Given the description of an element on the screen output the (x, y) to click on. 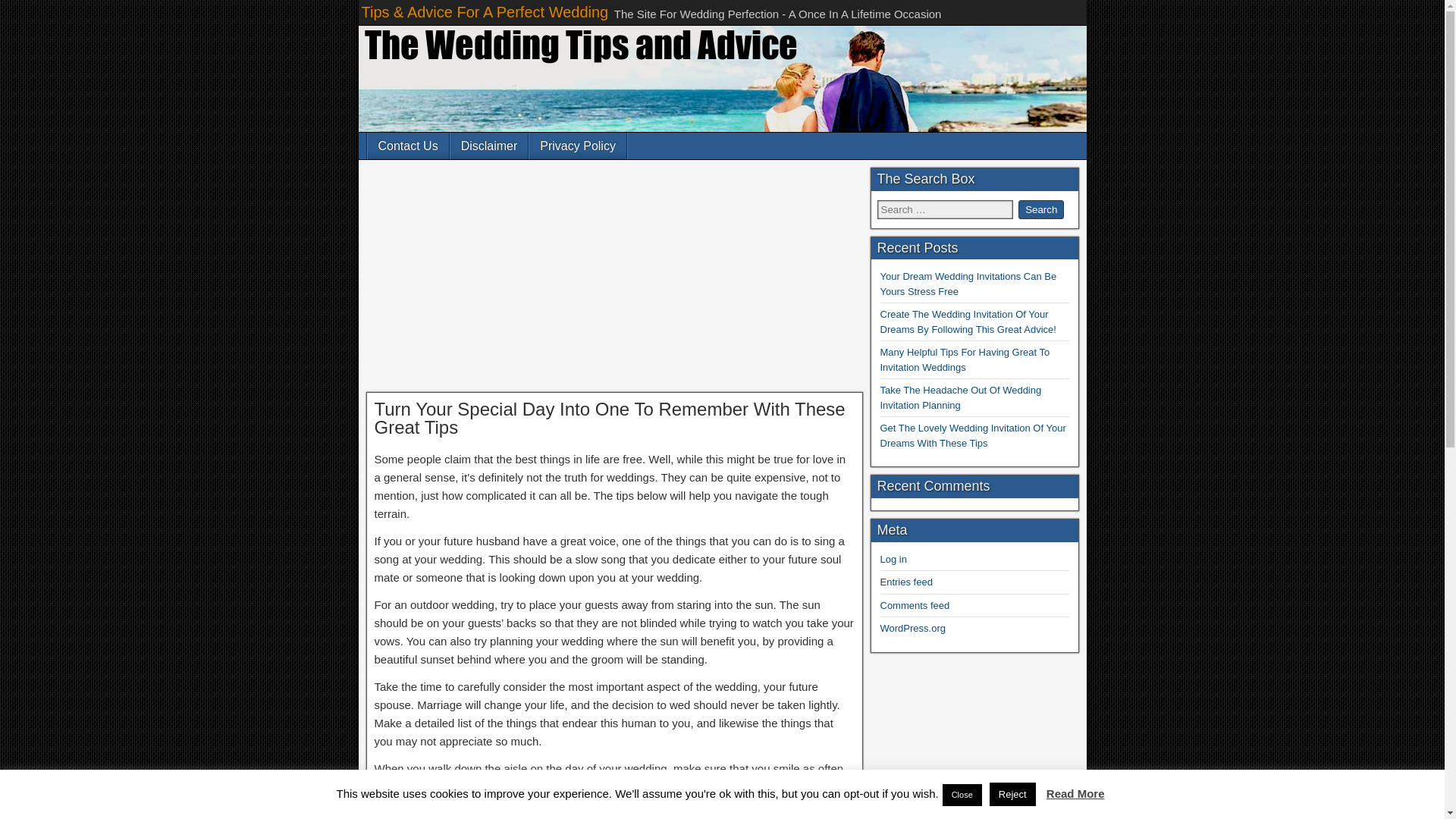
Reject (1012, 793)
Search (1040, 209)
Search (1040, 209)
Advertisement (613, 279)
WordPress.org (911, 627)
Entries feed (905, 582)
Log in (892, 559)
Your Dream Wedding Invitations Can Be Yours Stress Free (968, 284)
Read More (1075, 793)
Privacy Policy (577, 145)
Take The Headache Out Of Wedding Invitation Planning (960, 397)
Search (1040, 209)
Disclaimer (488, 145)
